Given the description of an element on the screen output the (x, y) to click on. 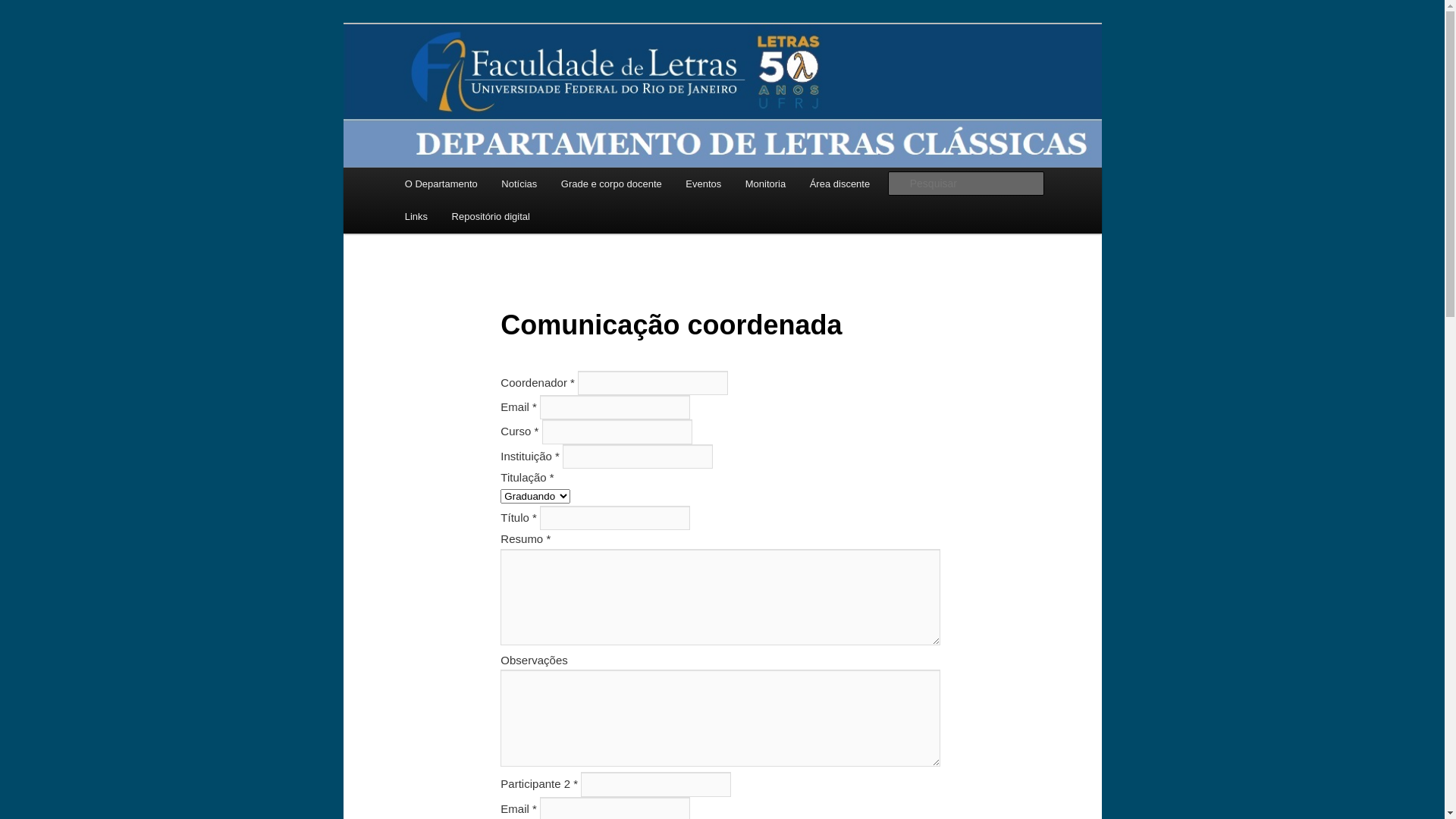
Monitoria Element type: text (765, 183)
O Departamento Element type: text (440, 183)
Grade e corpo docente Element type: text (611, 183)
Pesquisar Element type: text (31, 8)
http://www.classicas.letras.ufrj.br/links/monitoria/ Element type: text (668, 78)
Eventos Element type: text (702, 183)
Links Element type: text (415, 216)
